Given the description of an element on the screen output the (x, y) to click on. 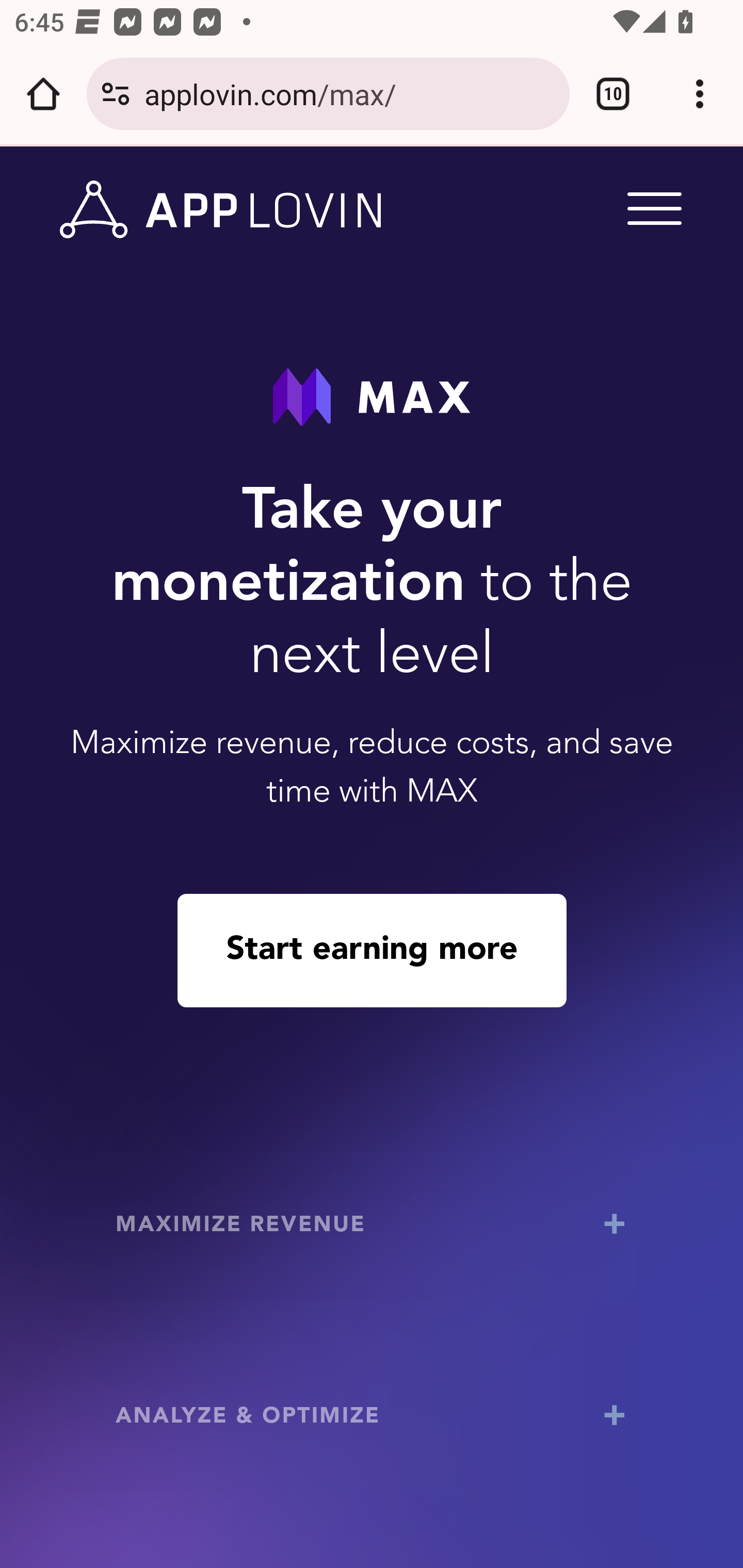
Open the home page (43, 93)
Connection is secure (115, 93)
Switch or close tabs (612, 93)
Customize and control Google Chrome (699, 93)
applovin.com/max/ (349, 92)
Menu Trigger (650, 207)
www.applovin (220, 209)
Start earning more (371, 950)
